Given the description of an element on the screen output the (x, y) to click on. 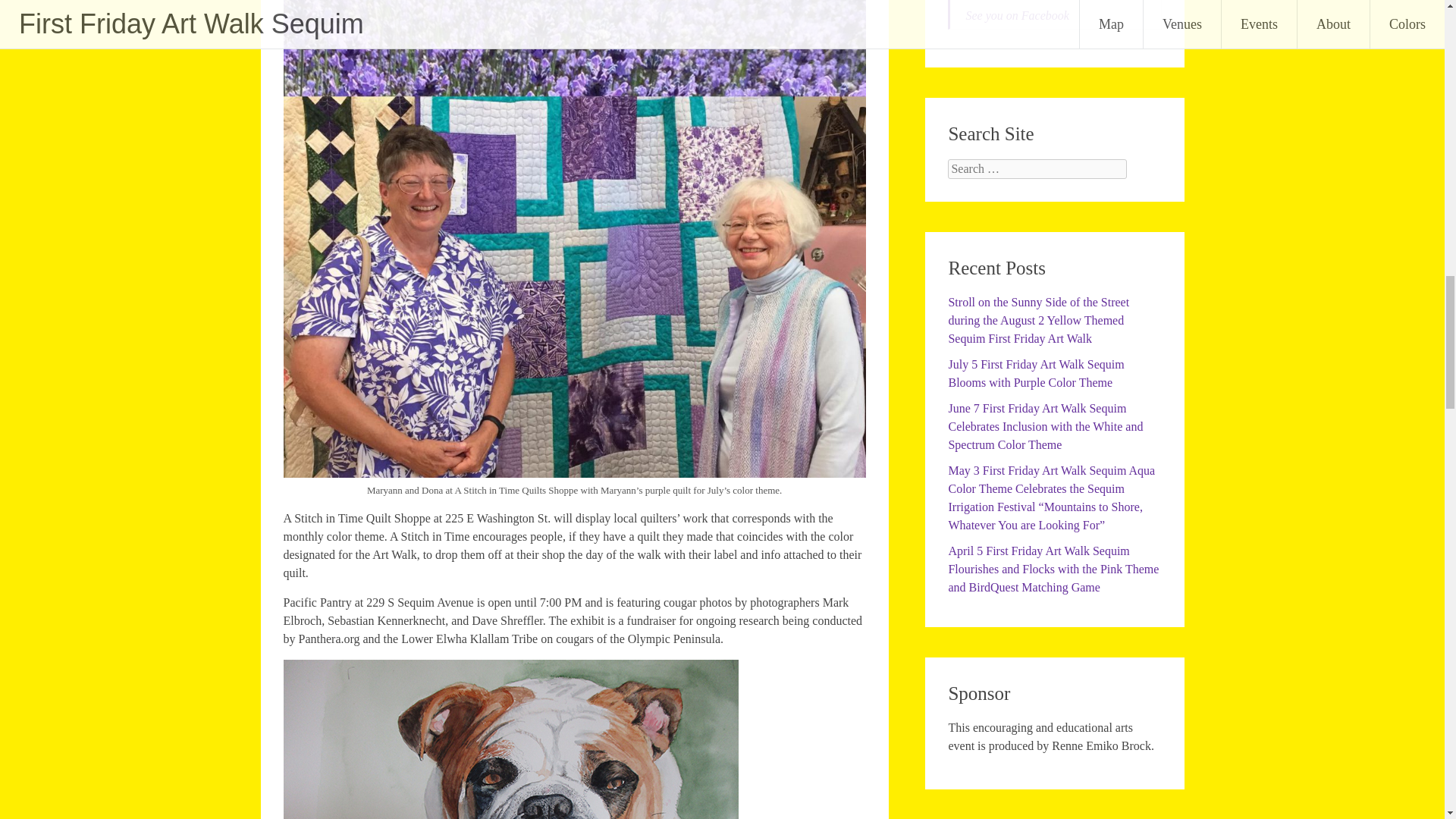
See you on Facebook (1016, 15)
